Given the description of an element on the screen output the (x, y) to click on. 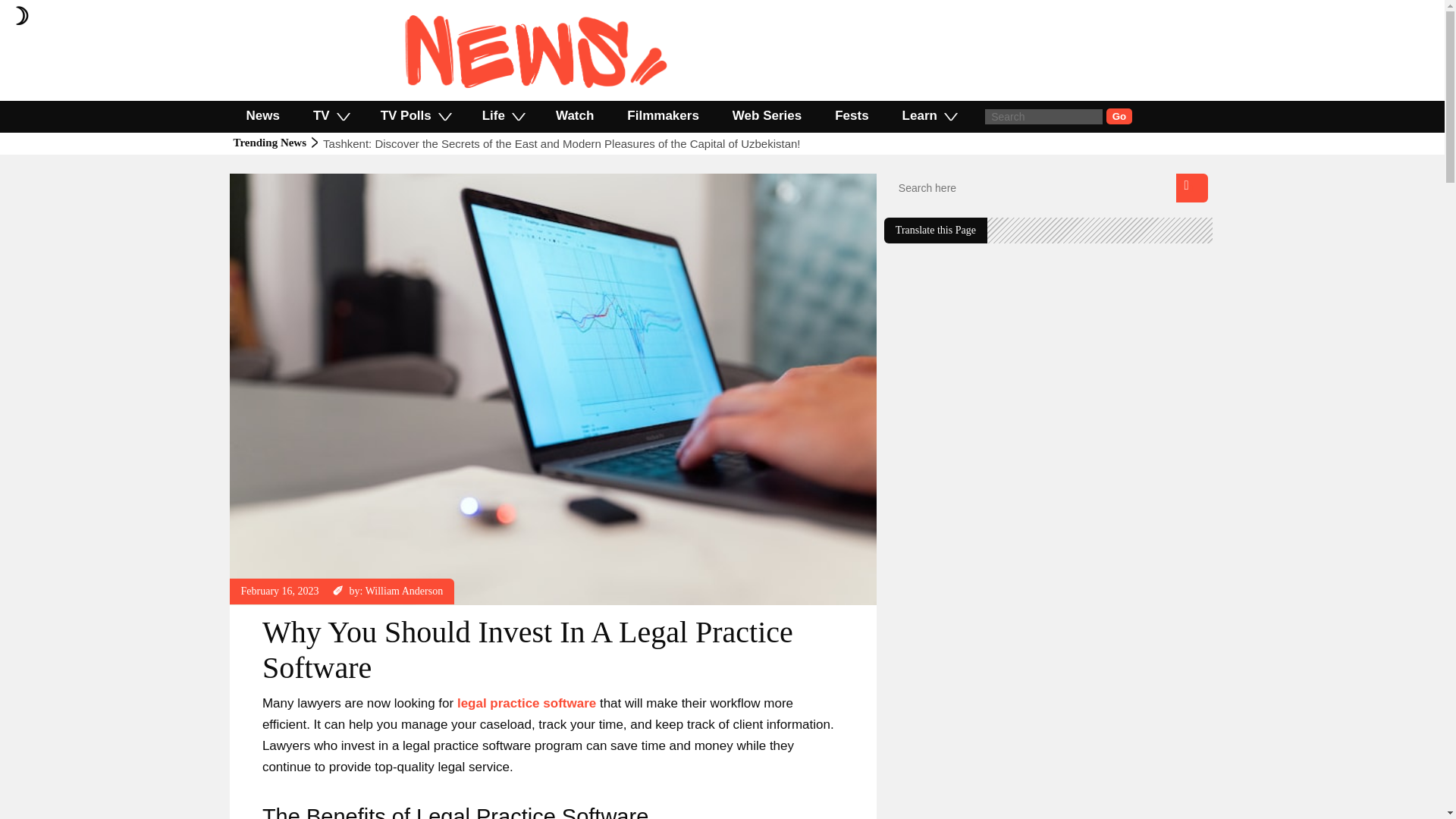
News (261, 115)
February 16, 2023 (279, 591)
TV (330, 115)
TV Polls (414, 115)
Watch (574, 115)
Life (501, 115)
Tech (251, 180)
Go (1119, 116)
Filmmakers (663, 115)
